Given the description of an element on the screen output the (x, y) to click on. 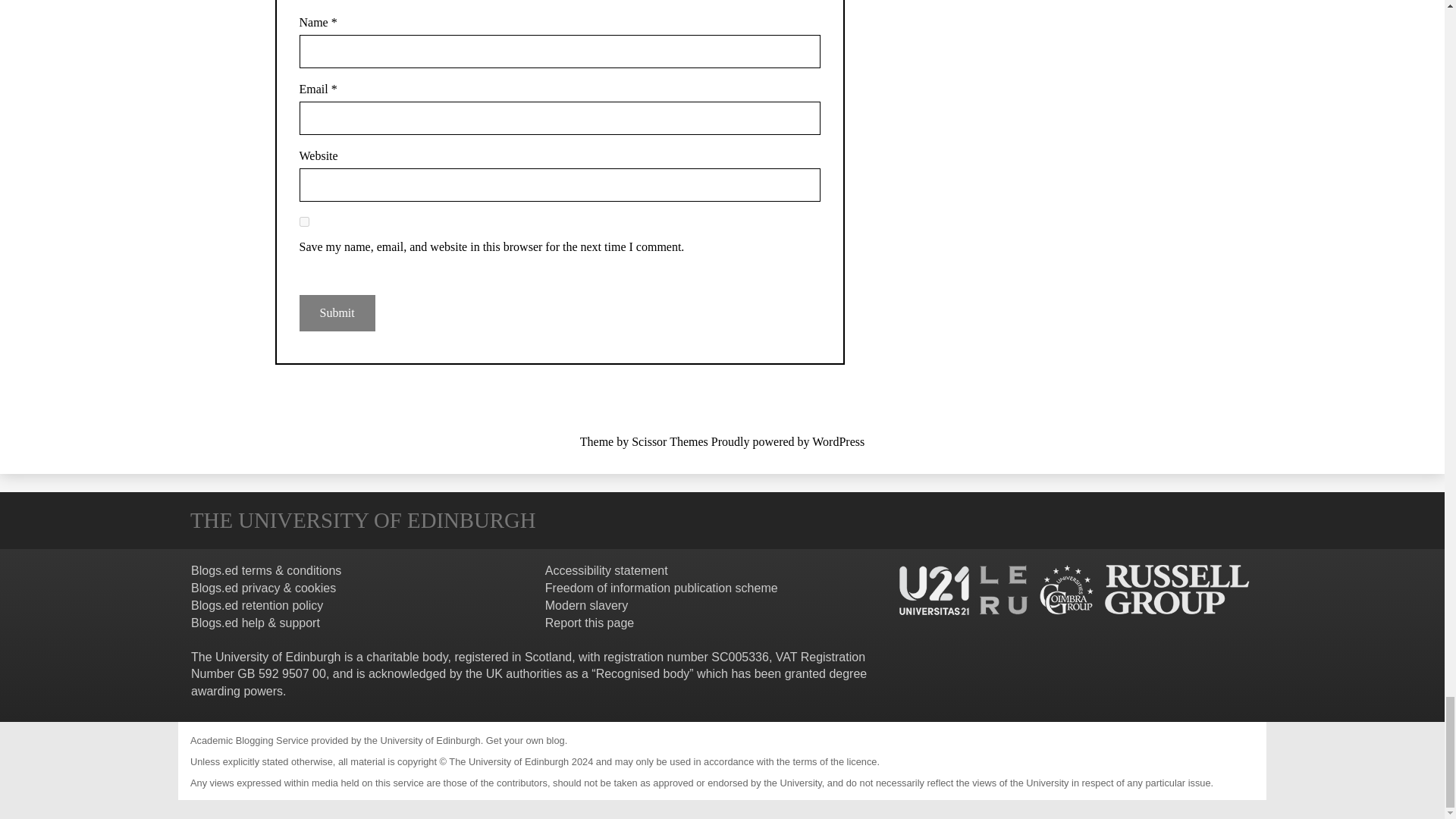
yes (303, 221)
WordPress (838, 440)
Scissor Themes (669, 440)
Modern slavery (585, 604)
Submit (336, 312)
Freedom of information publication scheme (660, 587)
Blogs.ed retention policy (256, 604)
Accessibility statement (606, 570)
Submit (336, 312)
